Given the description of an element on the screen output the (x, y) to click on. 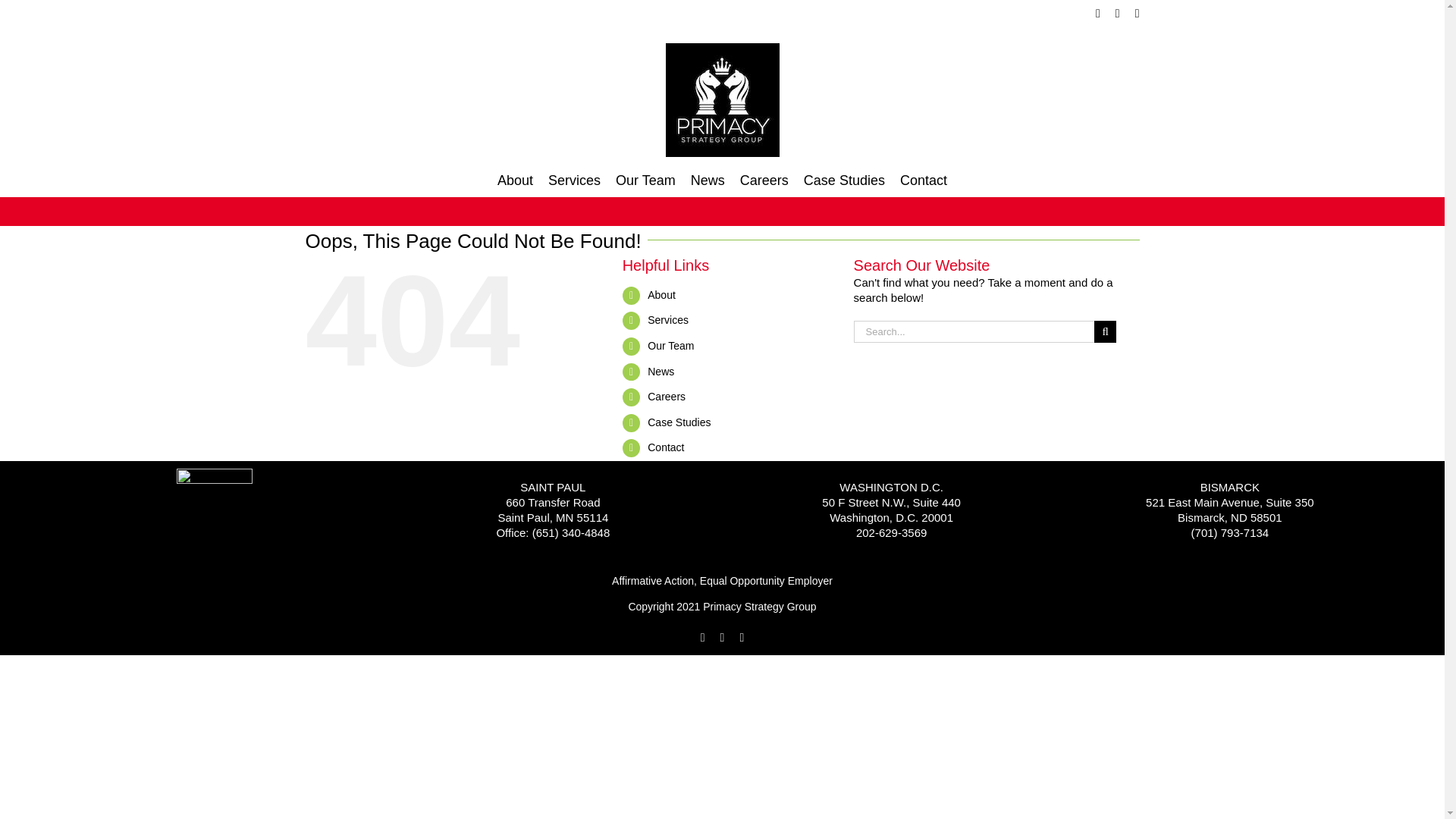
Services (667, 319)
About (661, 295)
Careers (764, 180)
News (660, 371)
Case Studies (678, 422)
Contact (665, 447)
About (514, 180)
Contact (923, 180)
Services (573, 180)
Careers (666, 396)
